Given the description of an element on the screen output the (x, y) to click on. 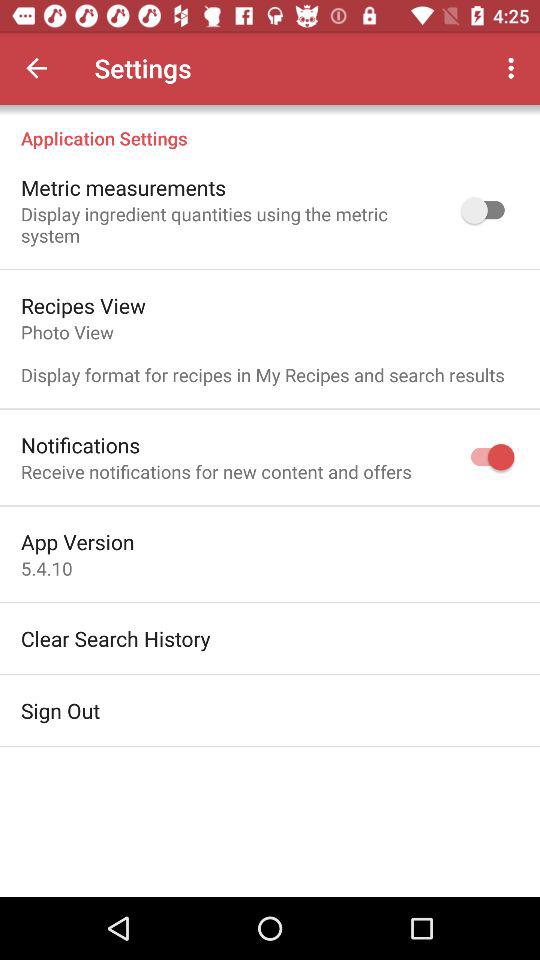
open the item above the application settings (36, 68)
